Given the description of an element on the screen output the (x, y) to click on. 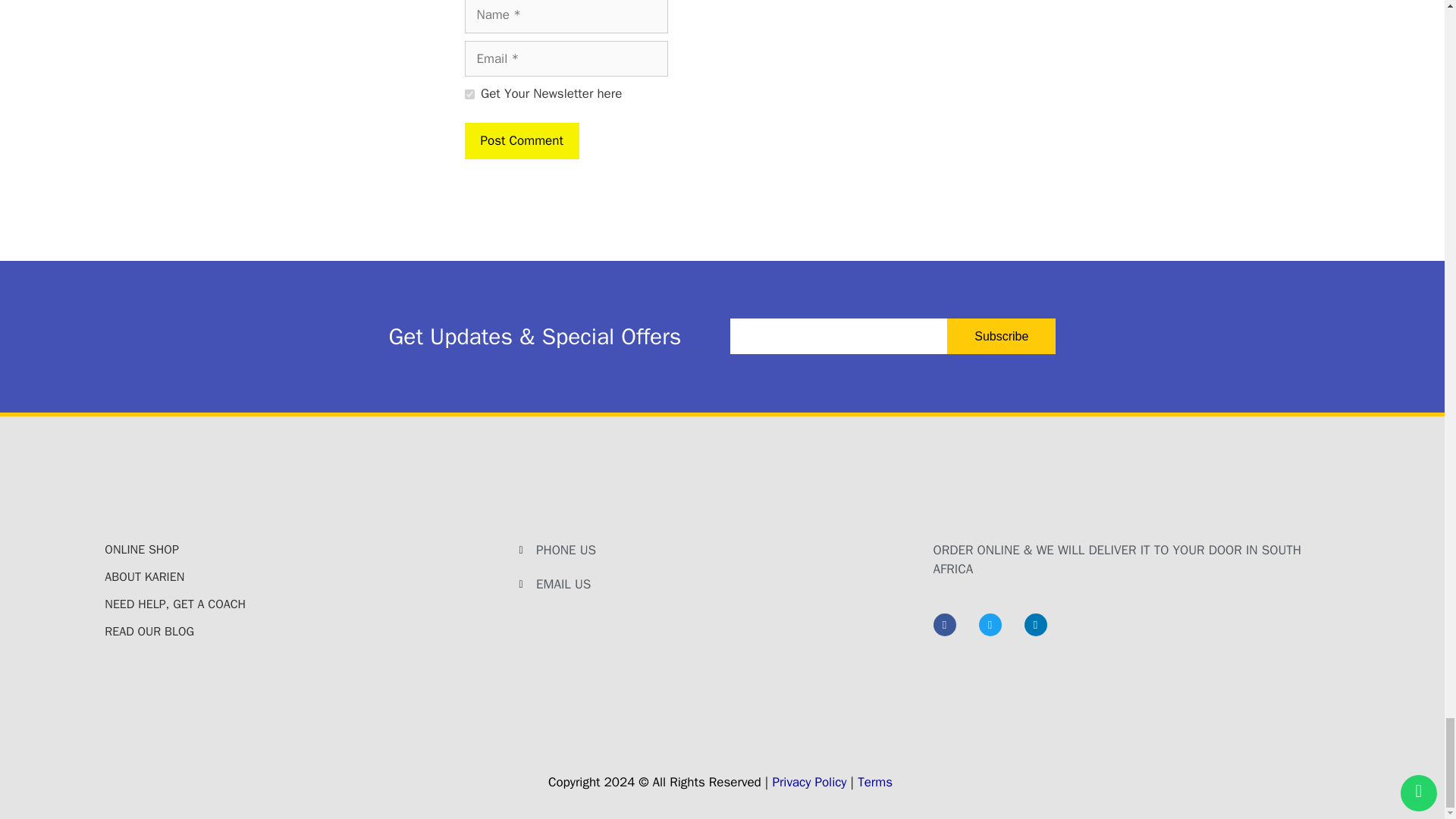
Post Comment (521, 140)
READ OUR BLOG (307, 631)
Post Comment (521, 140)
yes (469, 94)
EMAIL US (721, 584)
Subscribe (1001, 335)
PHONE US (721, 550)
ONLINE SHOP (307, 549)
ABOUT KARIEN (307, 577)
NEED HELP, GET A COACH (307, 604)
